Given the description of an element on the screen output the (x, y) to click on. 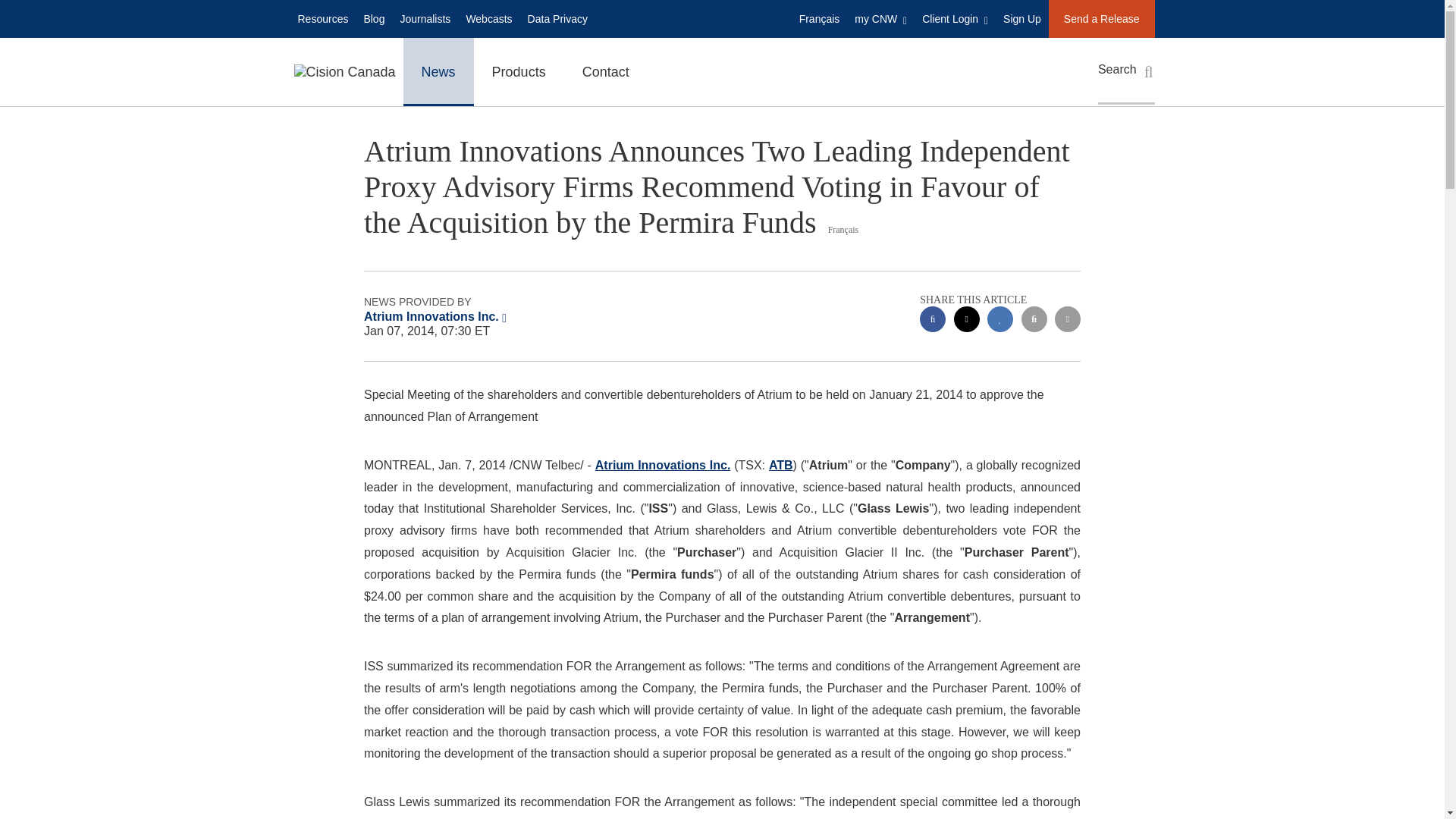
Products (519, 71)
Journalists (424, 18)
my CNW  (880, 18)
Client Login  (954, 18)
Data Privacy (557, 18)
Webcasts (488, 18)
Resources (322, 18)
Blog (373, 18)
Contact (605, 71)
Cision Canada (345, 71)
